Given the description of an element on the screen output the (x, y) to click on. 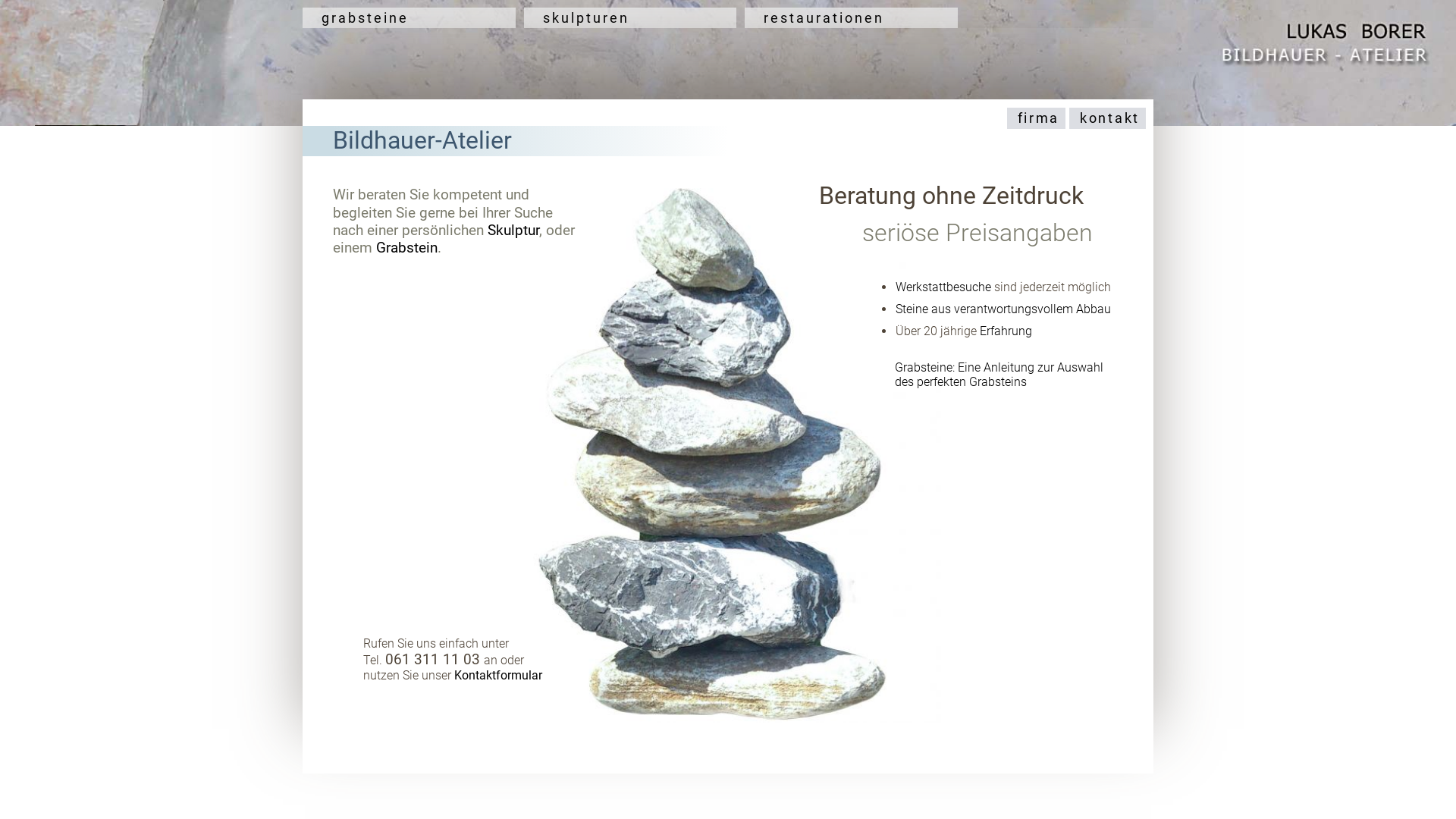
kontakt Element type: text (1105, 117)
firma Element type: text (1034, 117)
Grabstein Element type: text (406, 247)
Steine aus verantwortungsvollem Abbau Element type: text (1002, 308)
Kontaktformular Element type: text (498, 675)
skulpturen Element type: text (630, 17)
grabsteine Element type: text (408, 17)
Skulptur Element type: text (513, 229)
restaurationen Element type: text (850, 17)
  Element type: text (949, 109)
Erfahrung Element type: text (1005, 330)
Werkstattbesuche Element type: text (943, 286)
